Given the description of an element on the screen output the (x, y) to click on. 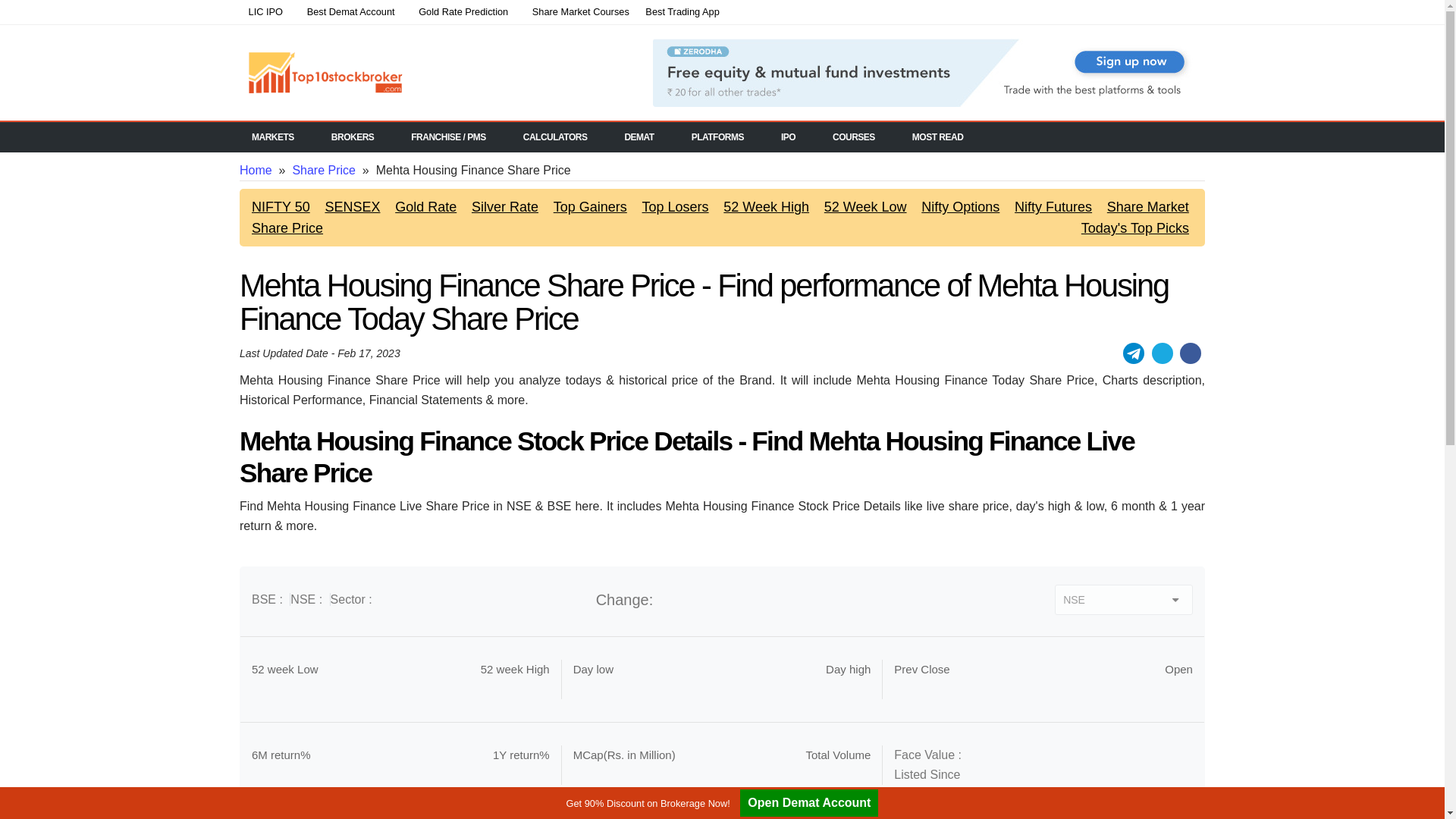
MARKETS (277, 136)
Best Demat Account (346, 13)
Gold Rate Prediction (459, 13)
Telegram (1133, 353)
Best Trading App (681, 13)
Twitter (1162, 353)
Share Market Courses (576, 13)
Share Market Courses (576, 13)
BROKERS (357, 136)
Gold Rate Prediction (459, 13)
LIC IPO (264, 13)
LIC IPO (264, 13)
Best Demat Account (346, 13)
Facebook (1190, 353)
Best Trading App (681, 13)
